Given the description of an element on the screen output the (x, y) to click on. 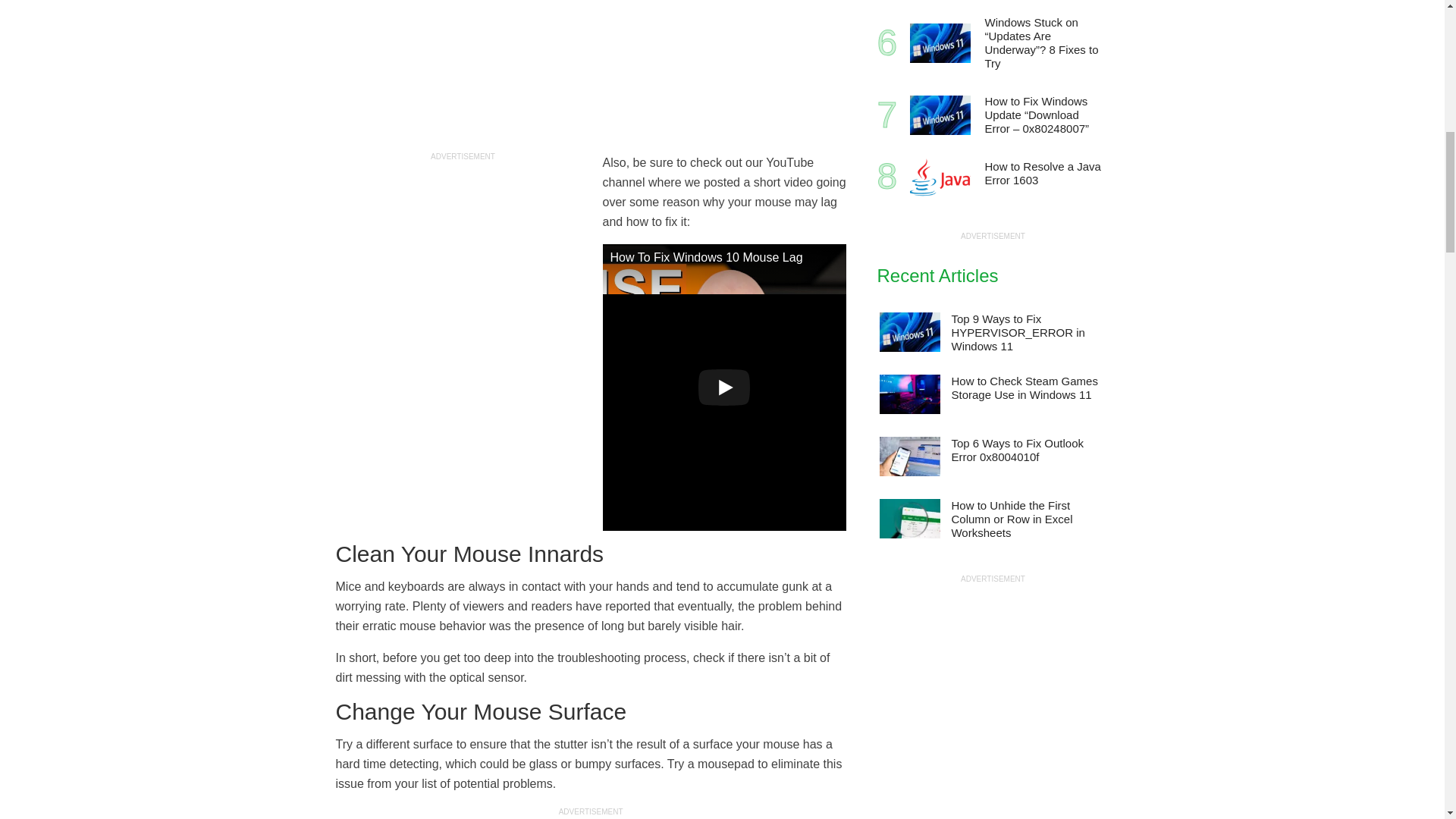
X (1434, 760)
